Given the description of an element on the screen output the (x, y) to click on. 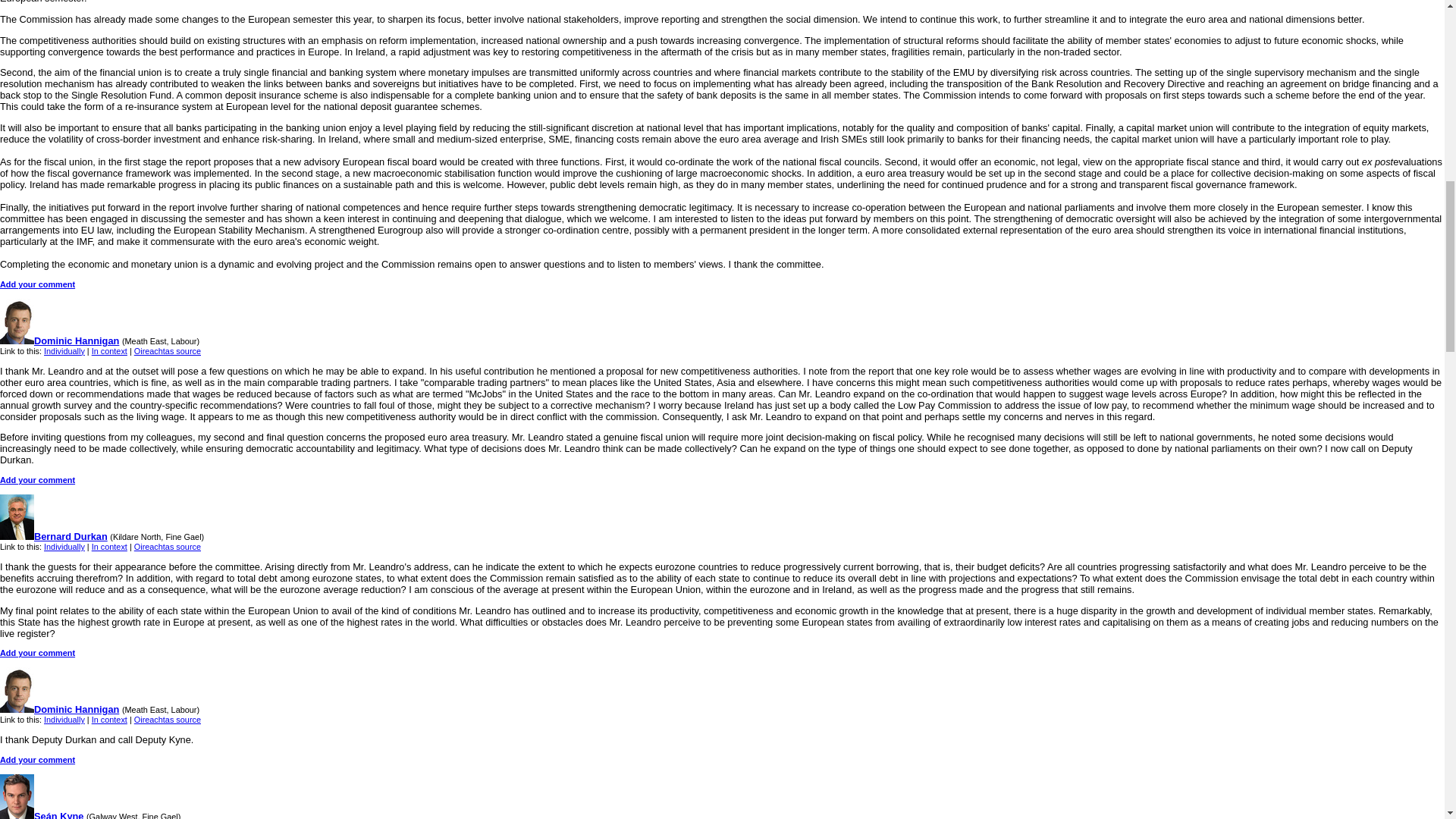
In context (109, 546)
Comment on this (37, 479)
Add your comment (37, 652)
Individually (63, 546)
Oireachtas source (166, 718)
Individually (63, 718)
Dominic Hannigan (59, 708)
Comment on this (37, 284)
Add your comment (37, 479)
Bernard Durkan (53, 536)
Add your comment (37, 284)
In context (109, 350)
Individually (63, 350)
See more information about Dominic Hannigan (59, 340)
Dominic Hannigan (59, 340)
